Given the description of an element on the screen output the (x, y) to click on. 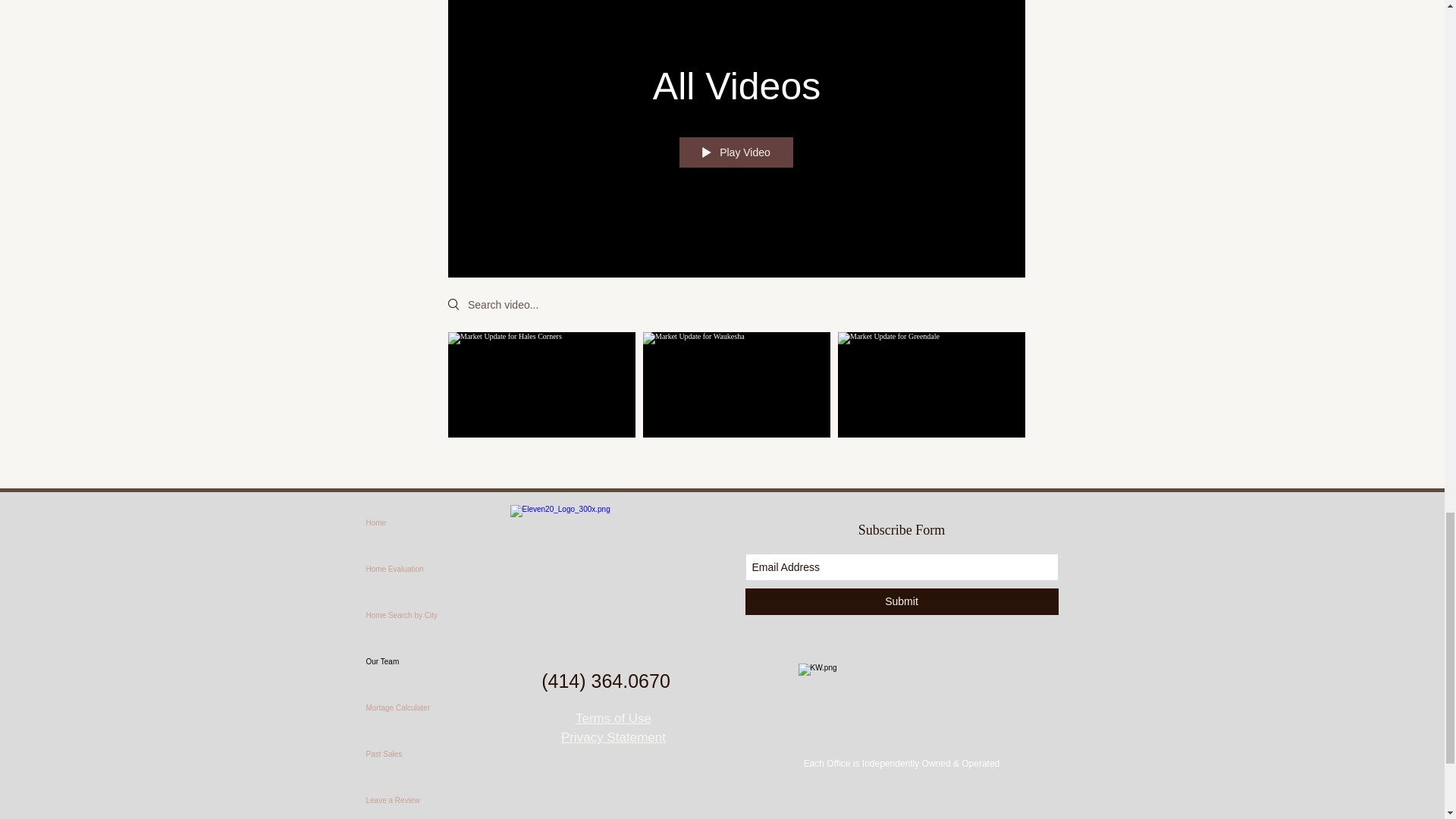
All Videos (735, 86)
Home Evaluation (437, 569)
Play Video (736, 152)
Leave a Review (437, 798)
Mortage Calculater (437, 707)
Home (437, 522)
Past Sales (437, 754)
Our Team (437, 661)
Home Search by City (437, 615)
